Given the description of an element on the screen output the (x, y) to click on. 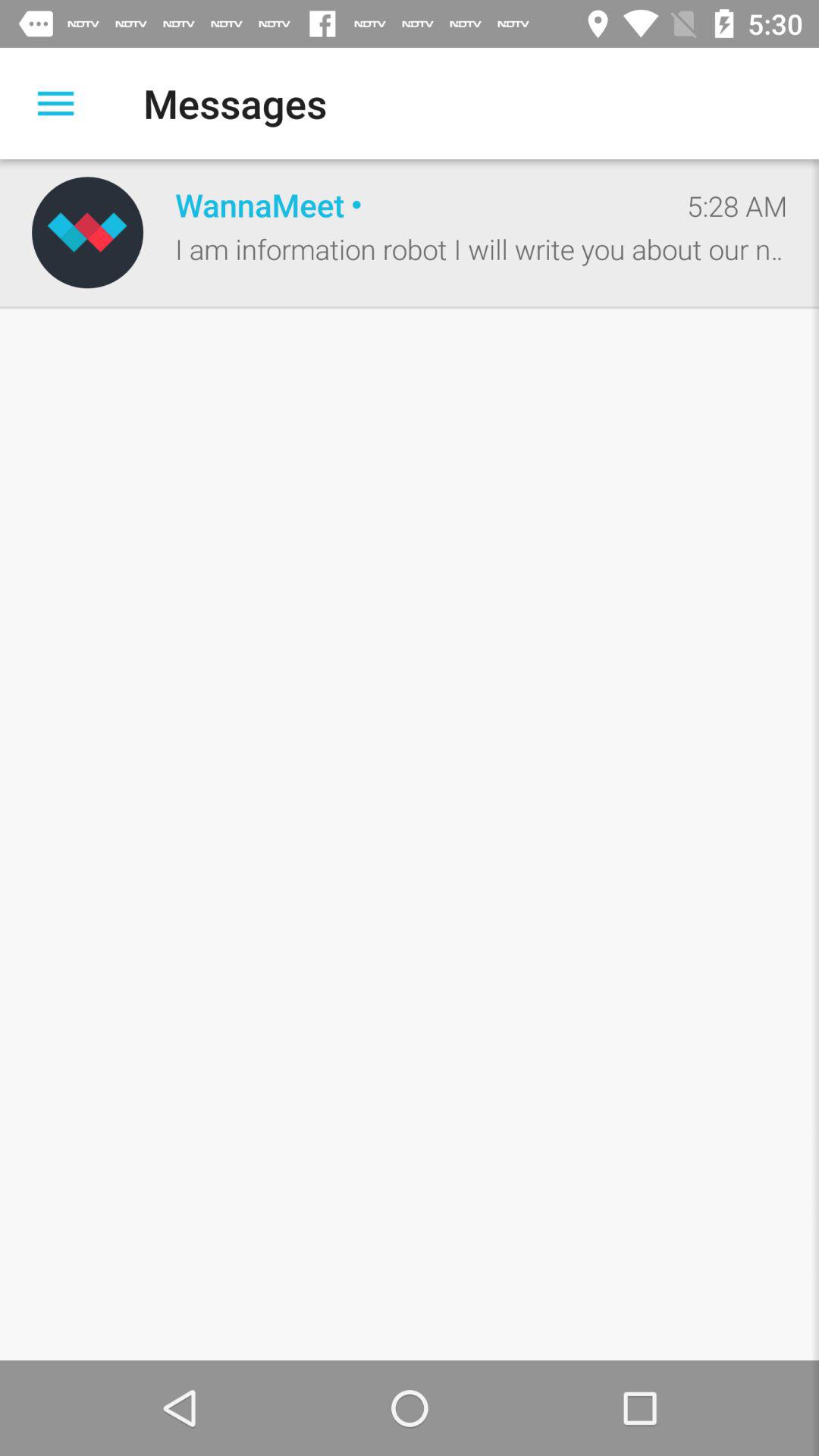
options (55, 103)
